Given the description of an element on the screen output the (x, y) to click on. 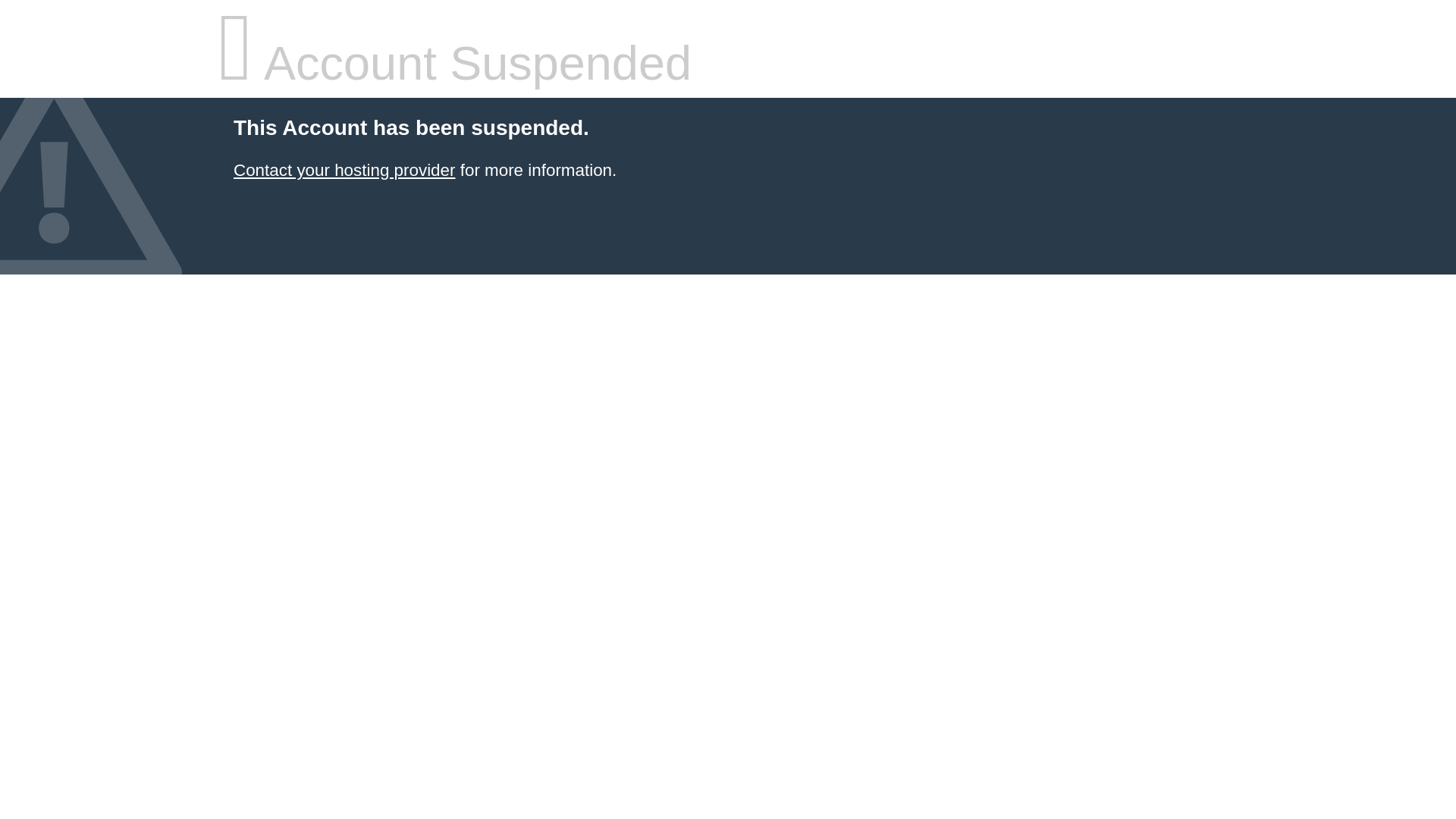
Contact your hosting provider (343, 169)
